Given the description of an element on the screen output the (x, y) to click on. 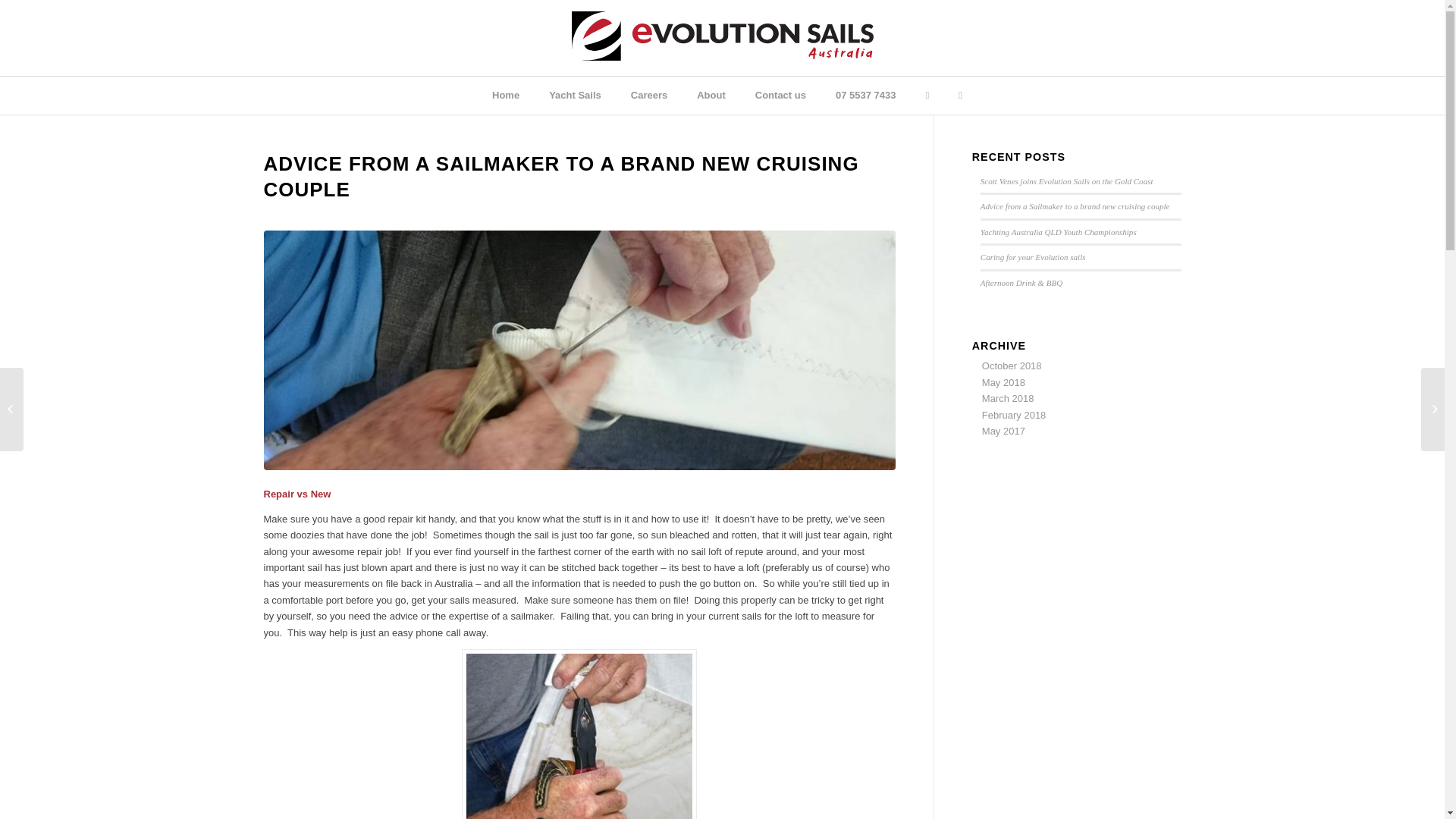
Scott Venes joins Evolution Sails on the Gold Coast Element type: text (1066, 180)
hand sewing 2 Element type: hover (579, 350)
May 2017 Element type: text (1003, 430)
Careers Element type: text (649, 95)
Contact us Element type: text (780, 95)
Yacht Sails Element type: text (575, 95)
Caring for your Evolution sails Element type: text (1032, 256)
ADVICE FROM A SAILMAKER TO A BRAND NEW CRUISING COUPLE Element type: text (561, 176)
Home Element type: text (505, 95)
07 5537 7433 Element type: text (865, 95)
October 2018 Element type: text (1011, 365)
About Element type: text (711, 95)
February 2018 Element type: text (1014, 414)
March 2018 Element type: text (1008, 398)
Yachting Australia QLD Youth Championships Element type: text (1058, 231)
Afternoon Drink & BBQ Element type: text (1021, 282)
May 2018 Element type: text (1003, 382)
Advice from a Sailmaker to a brand new cruising couple Element type: text (1075, 205)
